Given the description of an element on the screen output the (x, y) to click on. 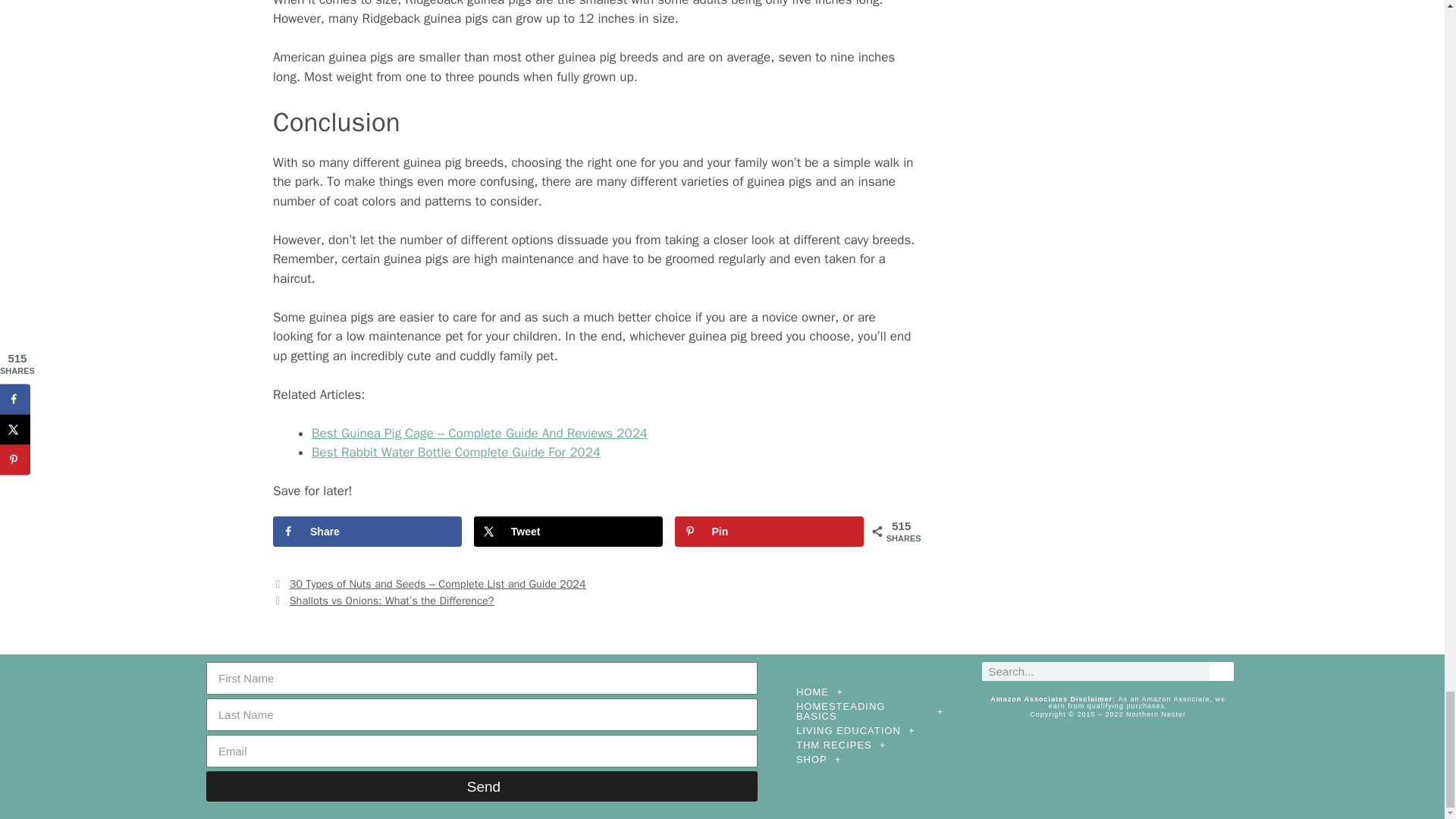
Share on X (568, 531)
Share on Facebook (367, 531)
Save to Pinterest (769, 531)
